Given the description of an element on the screen output the (x, y) to click on. 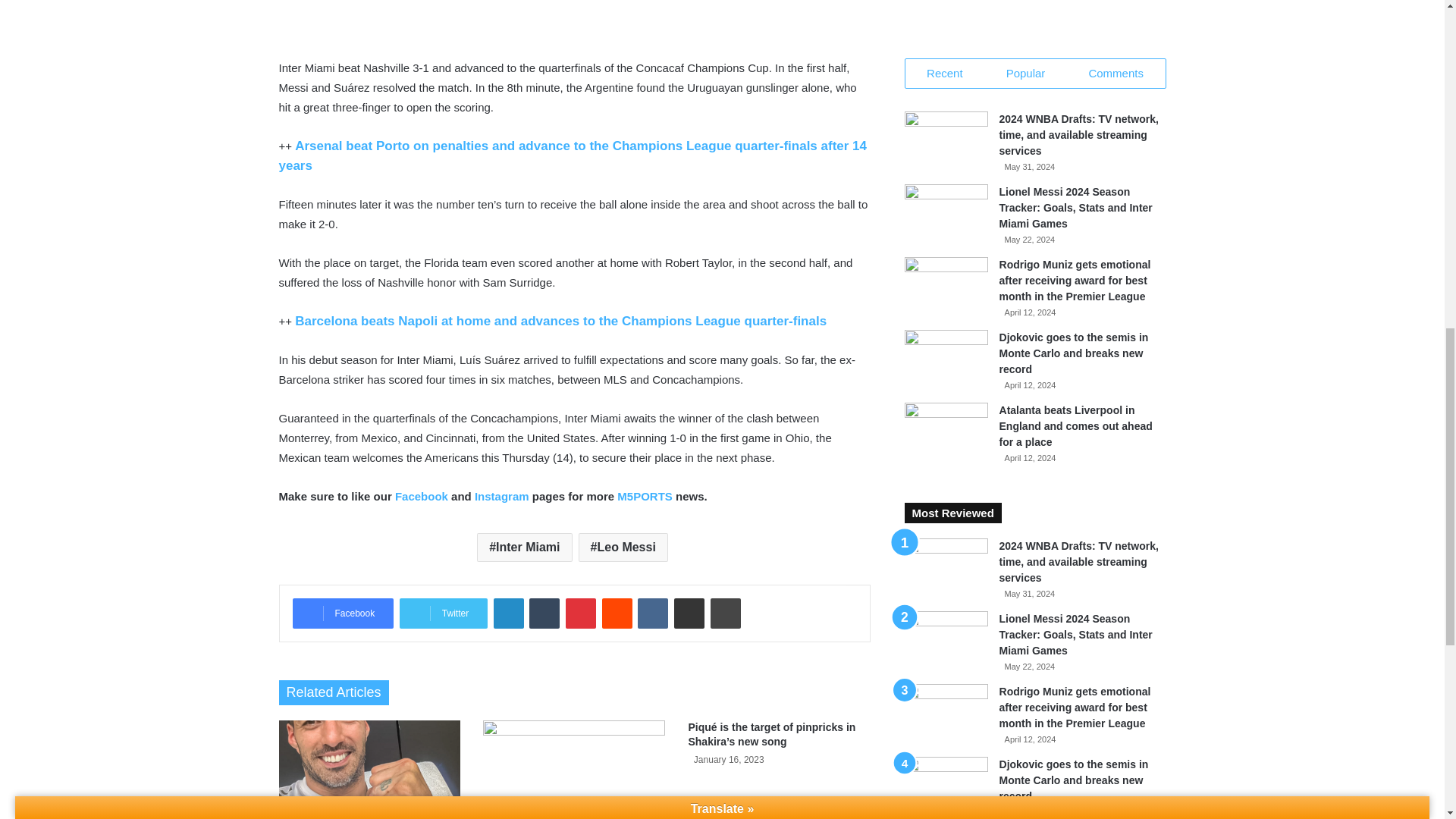
Share via Email (689, 613)
Pinterest (580, 613)
Tumblr (544, 613)
Twitter (442, 613)
Reddit (616, 613)
Facebook (343, 613)
LinkedIn (508, 613)
VKontakte (652, 613)
